Given the description of an element on the screen output the (x, y) to click on. 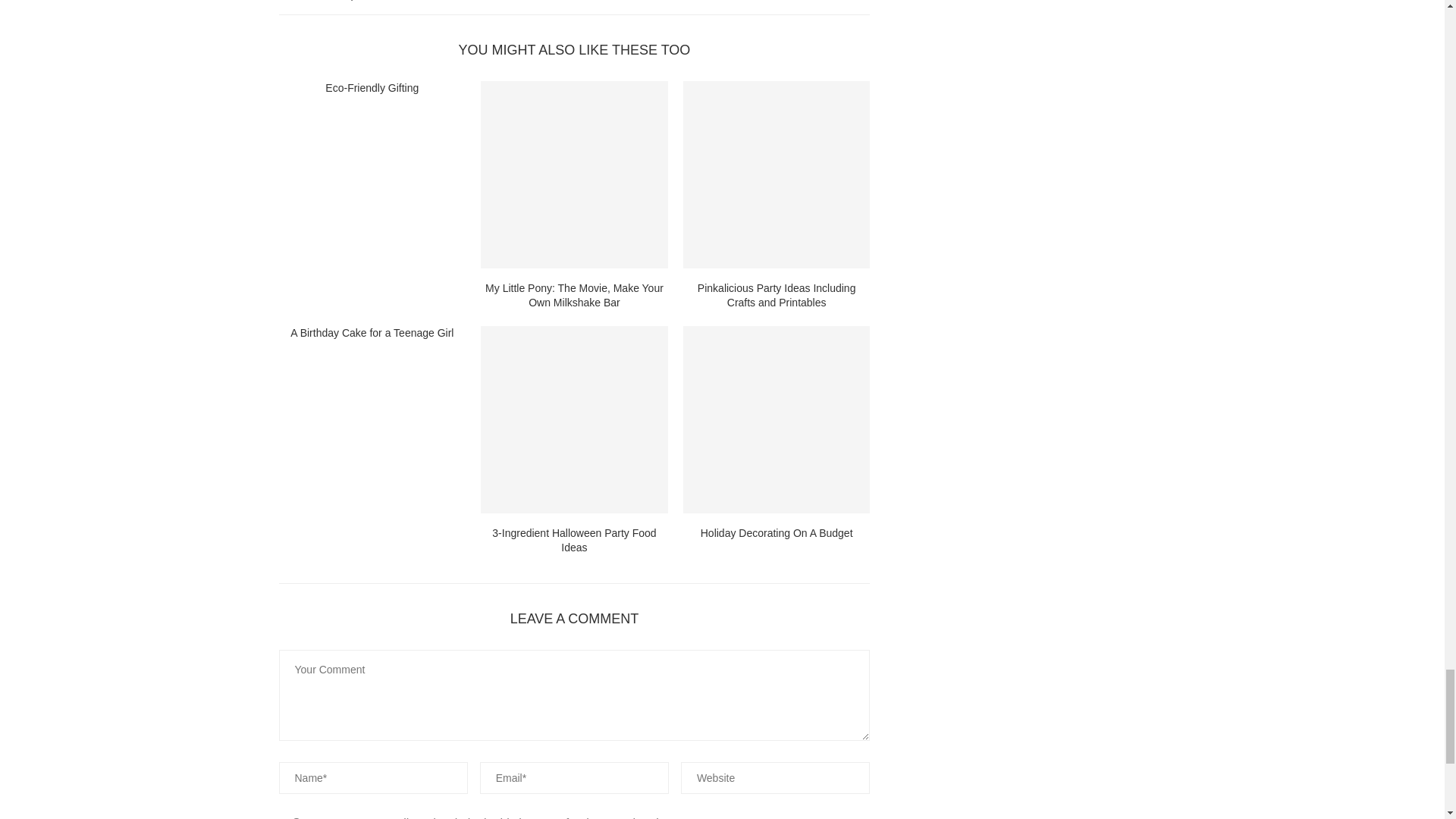
Holiday Decorating On A Budget (776, 419)
My Little Pony: The Movie, Make Your Own Milkshake Bar (574, 174)
3-Ingredient Halloween Party Food Ideas (574, 419)
Pinkalicious Party Ideas Including Crafts and Printables (776, 174)
